Given the description of an element on the screen output the (x, y) to click on. 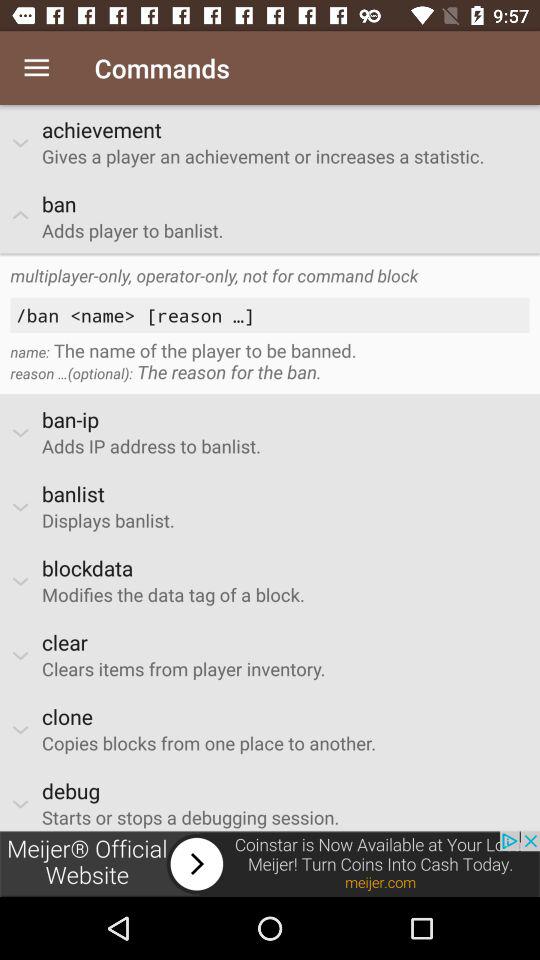
click to view advertisements icon (270, 864)
